Given the description of an element on the screen output the (x, y) to click on. 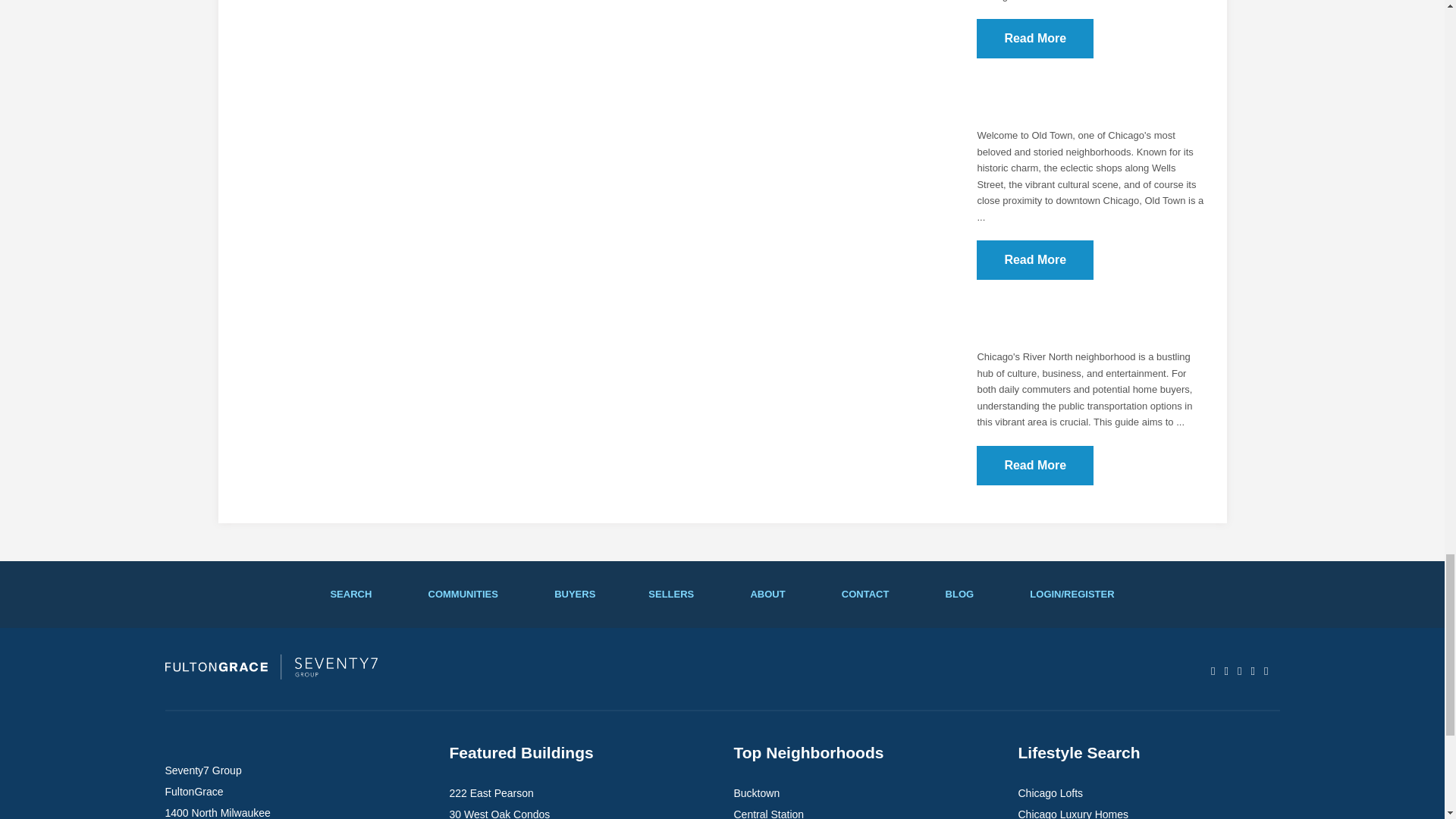
View Central Station (769, 813)
View Bucktown (756, 793)
View 222 East Pearson (490, 793)
View 30 West Oak Condos (499, 813)
